Given the description of an element on the screen output the (x, y) to click on. 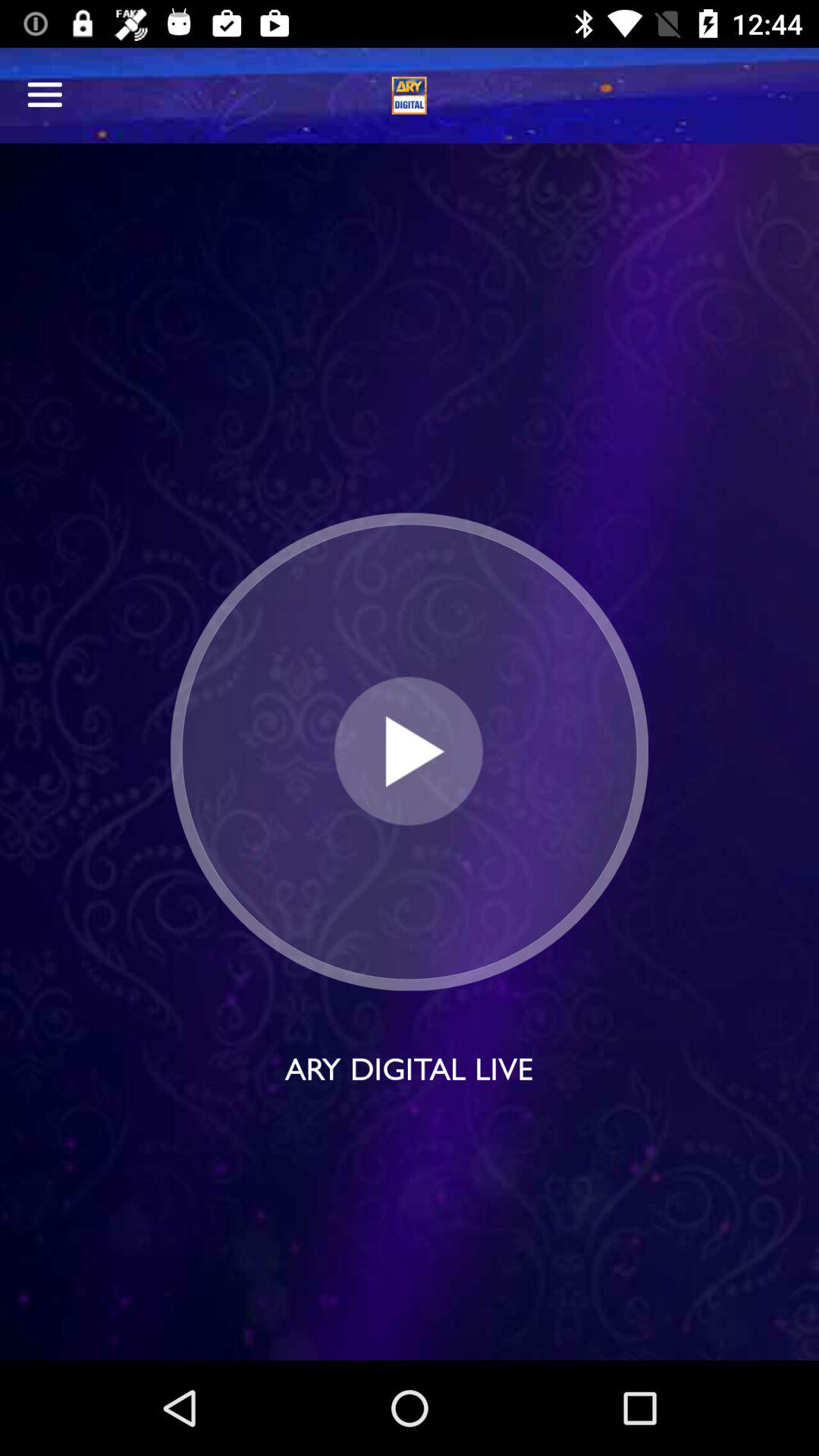
click the icon above ary digital live app (409, 751)
